Given the description of an element on the screen output the (x, y) to click on. 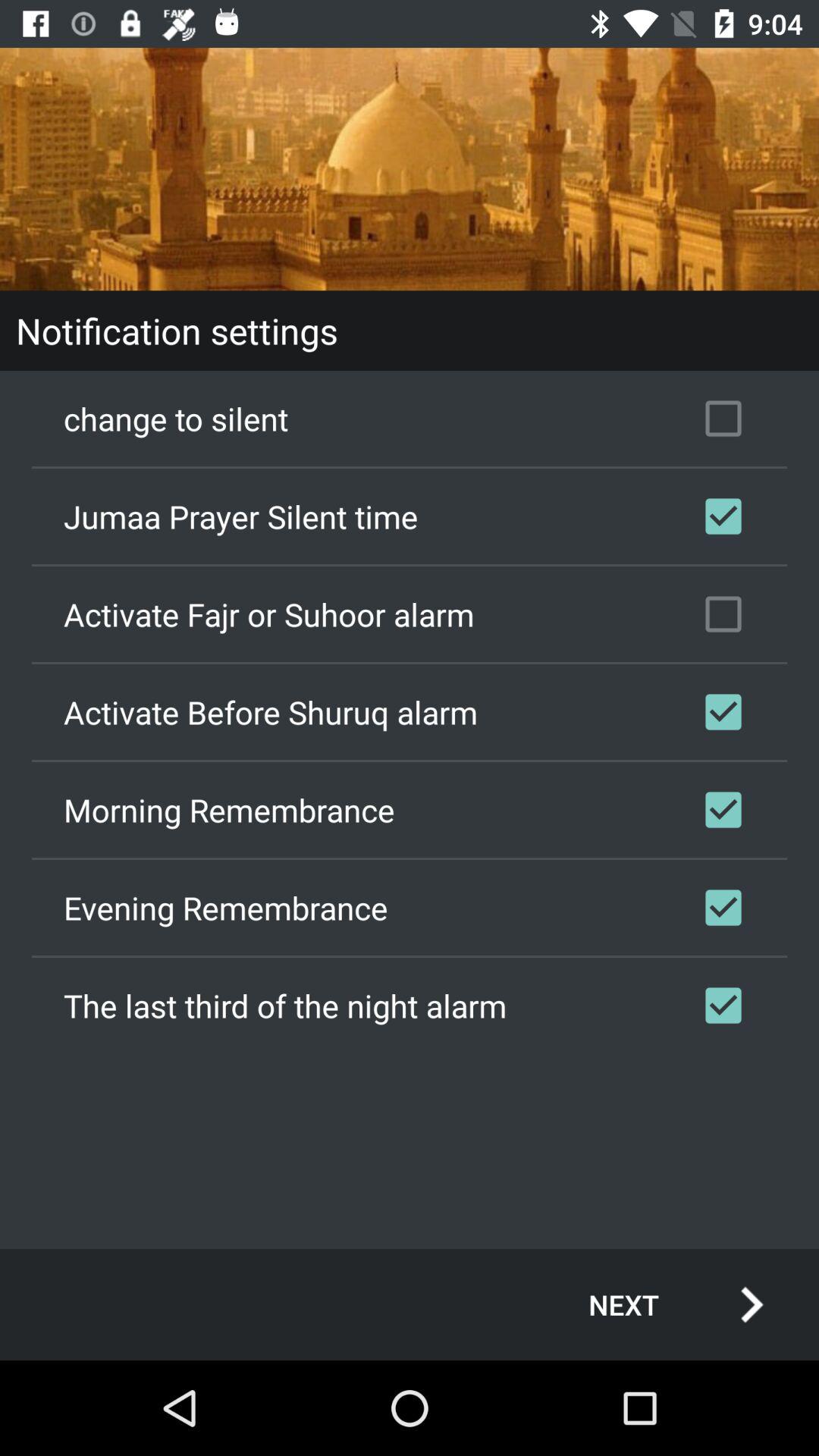
select icon above the activate fajr or icon (409, 516)
